Given the description of an element on the screen output the (x, y) to click on. 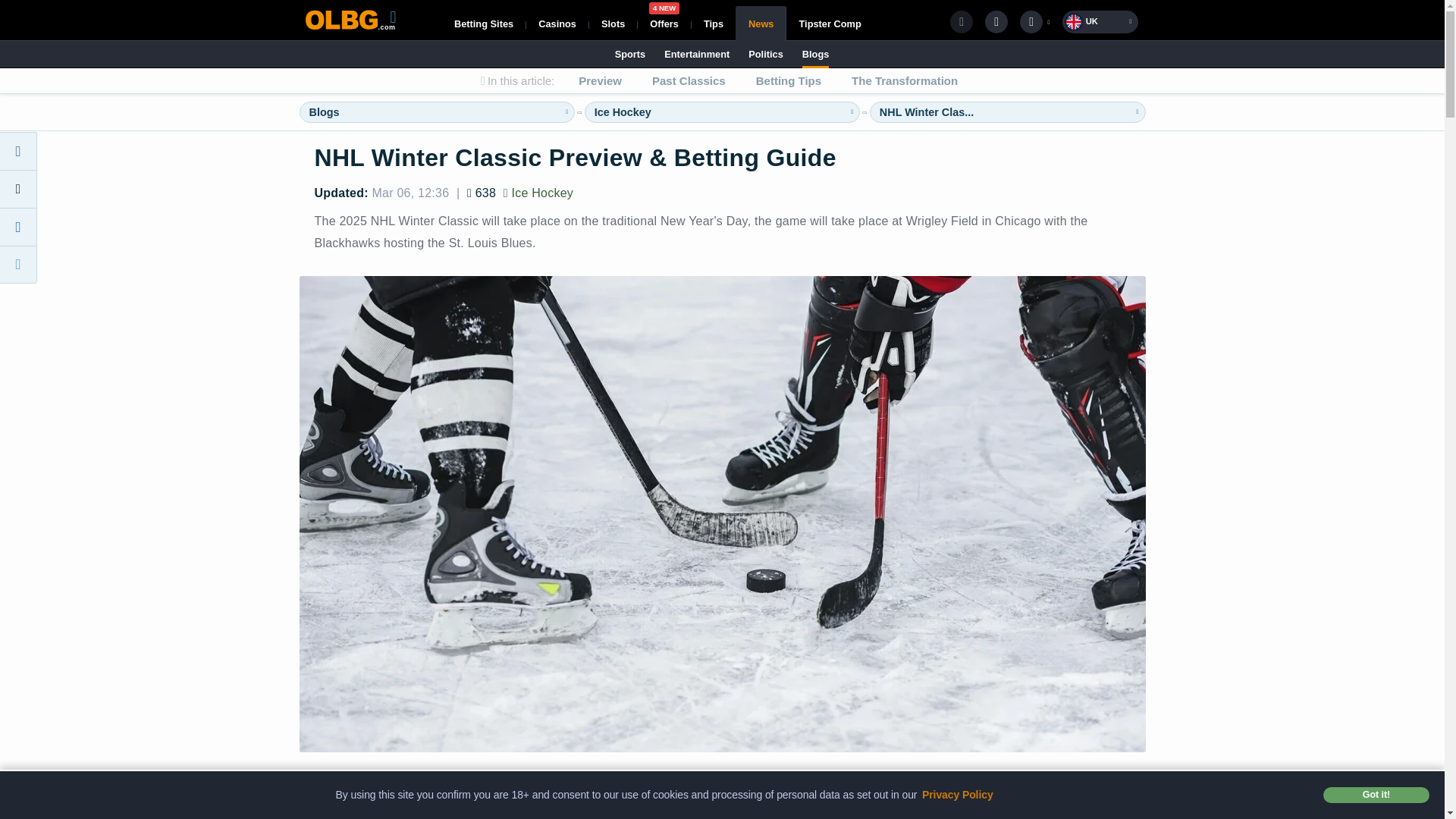
Tips (483, 23)
Ice Hockey (713, 23)
Slots (622, 111)
Tipster Comp (613, 23)
News (663, 23)
Casinos (829, 23)
Blogs (761, 23)
